Given the description of an element on the screen output the (x, y) to click on. 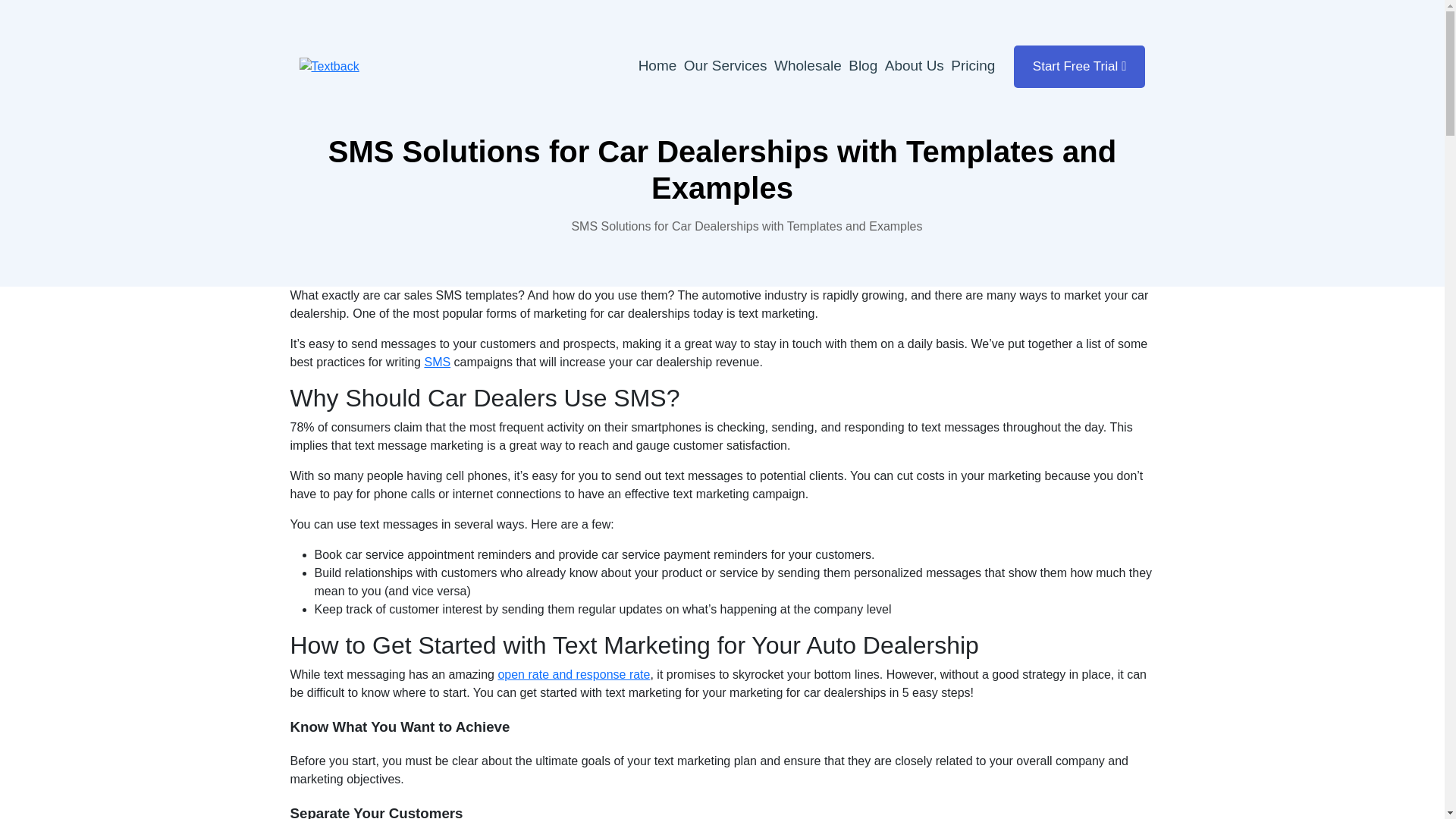
Wholesale (807, 65)
open rate and response rate (573, 674)
Blog (862, 65)
Pricing (972, 65)
Start Free Trial (1079, 66)
Our Services (725, 65)
About Us (914, 65)
SMS (436, 360)
Home (658, 65)
SMS (436, 360)
